Given the description of an element on the screen output the (x, y) to click on. 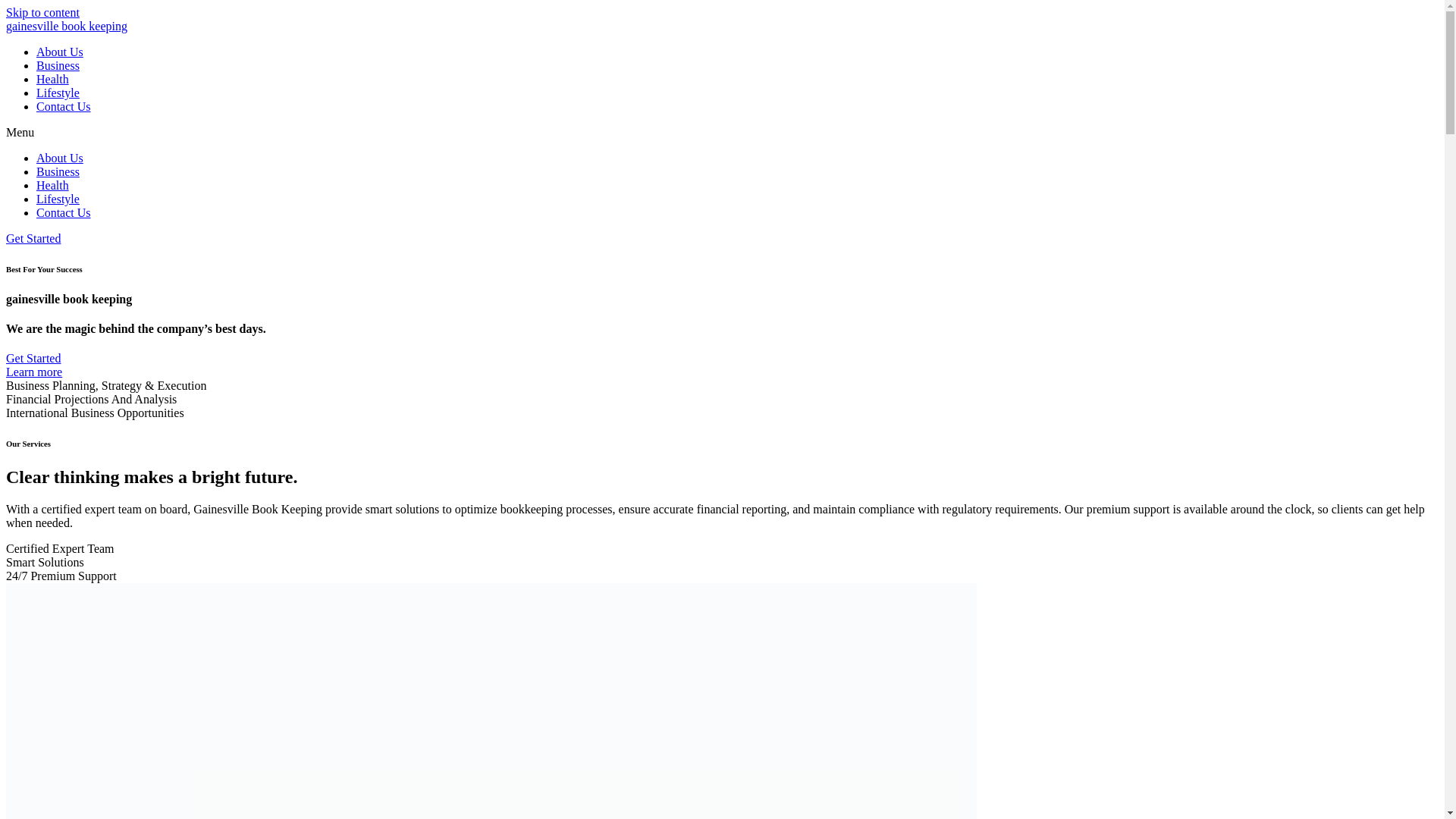
Contact Us (63, 106)
Skip to content (42, 11)
Get Started (33, 237)
Contact Us (63, 212)
Skip to content (42, 11)
Learn more (33, 371)
About Us (59, 157)
Business (58, 171)
Health (52, 185)
About Us (59, 51)
